Given the description of an element on the screen output the (x, y) to click on. 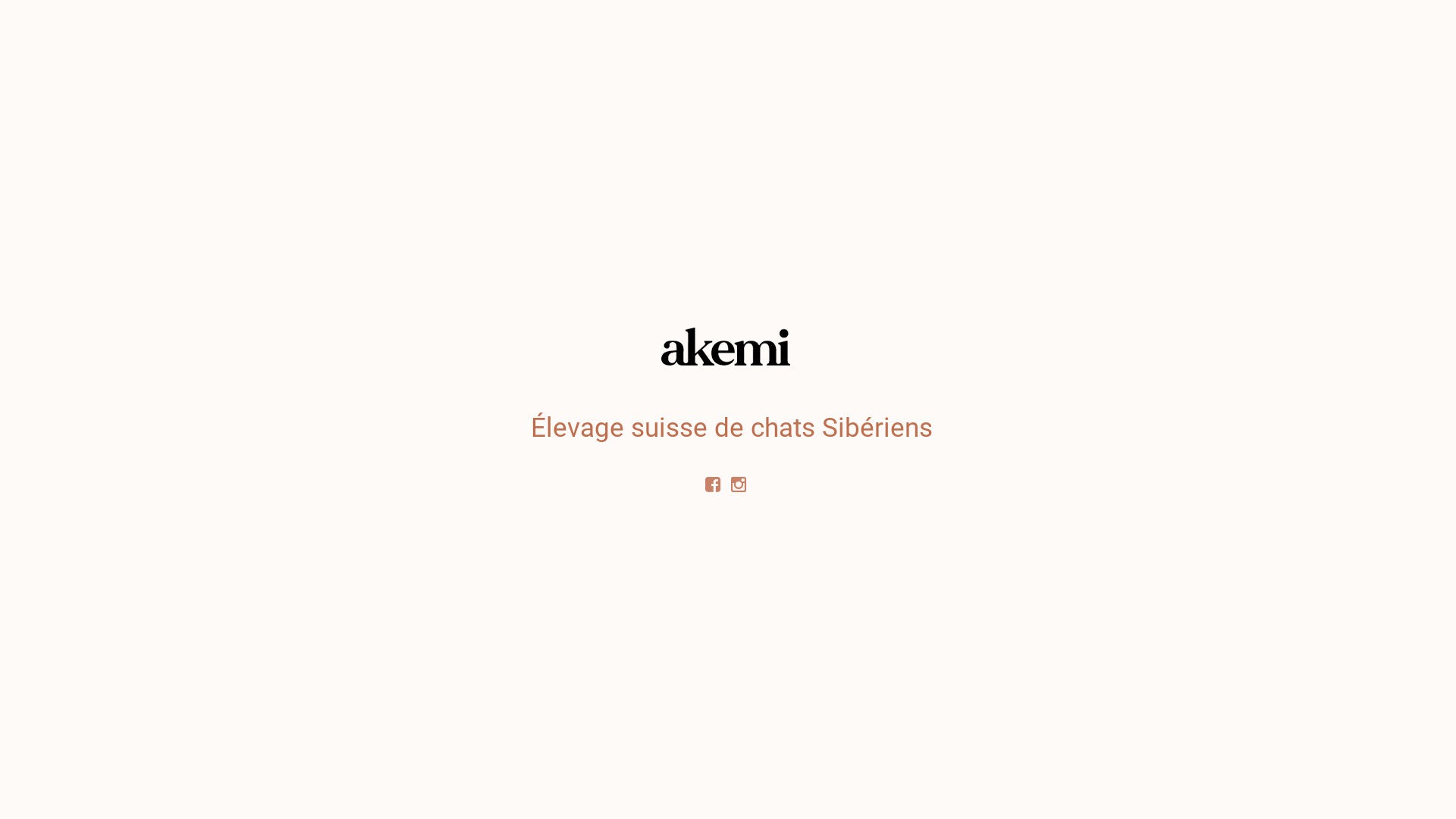
Instagram Element type: hover (741, 483)
Facebook Element type: hover (712, 483)
  Element type: text (741, 483)
